Given the description of an element on the screen output the (x, y) to click on. 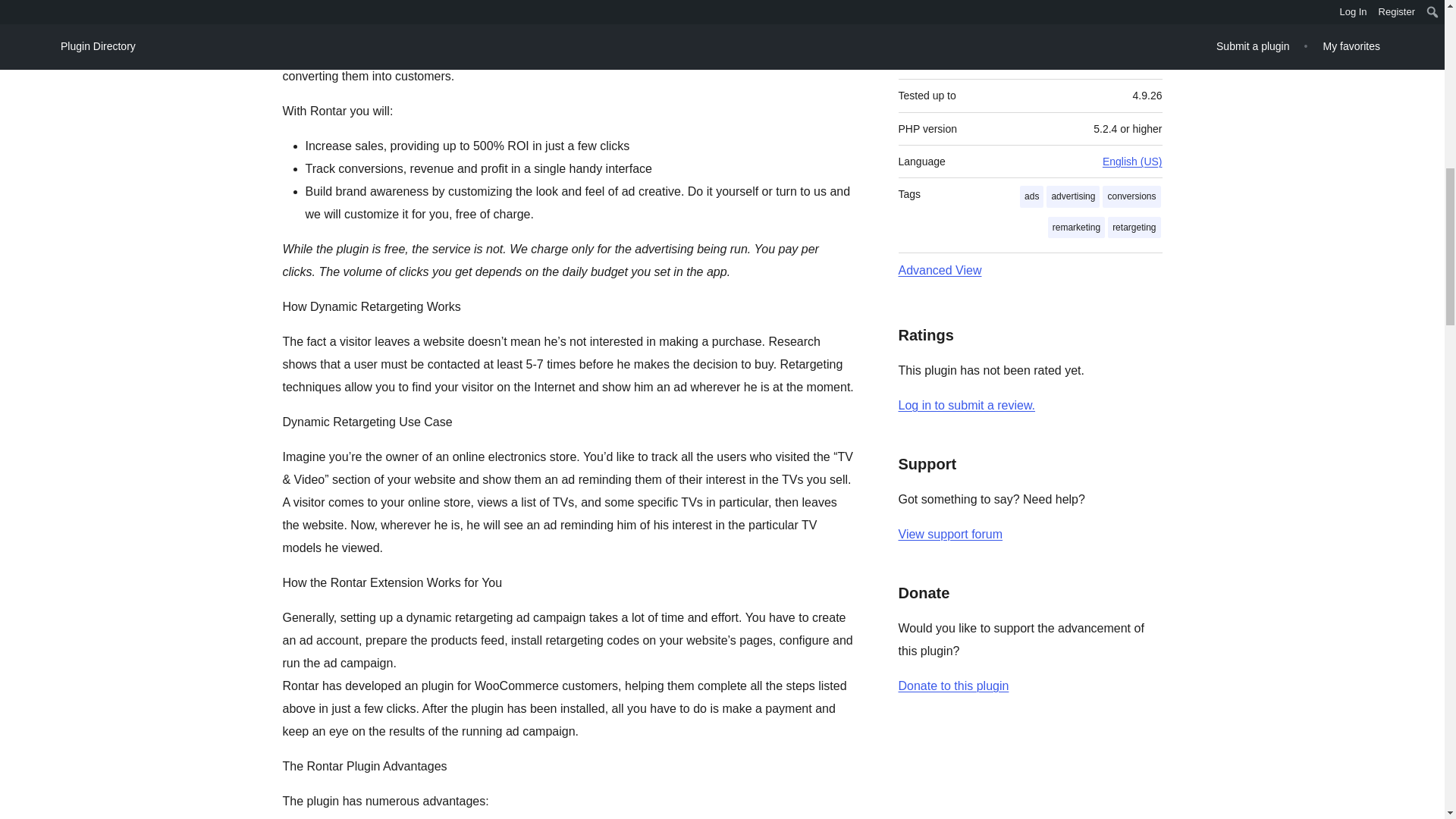
Log in to WordPress.org (966, 404)
Rontar (620, 30)
